Given the description of an element on the screen output the (x, y) to click on. 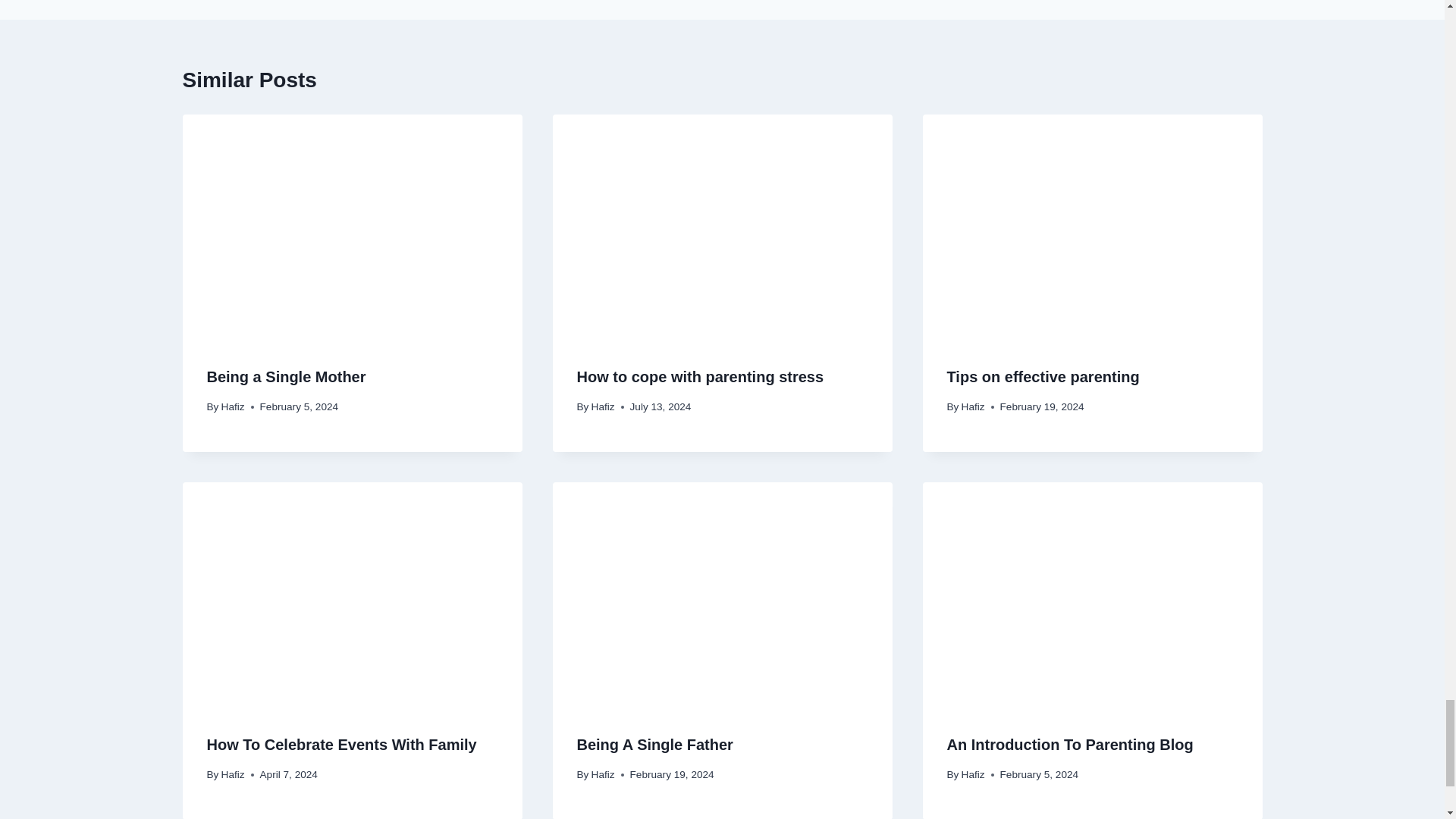
Being a Single Mother (285, 376)
How to cope with parenting stress (700, 376)
Hafiz (972, 406)
Tips on effective parenting (1042, 376)
Hafiz (602, 406)
Hafiz (232, 406)
